Given the description of an element on the screen output the (x, y) to click on. 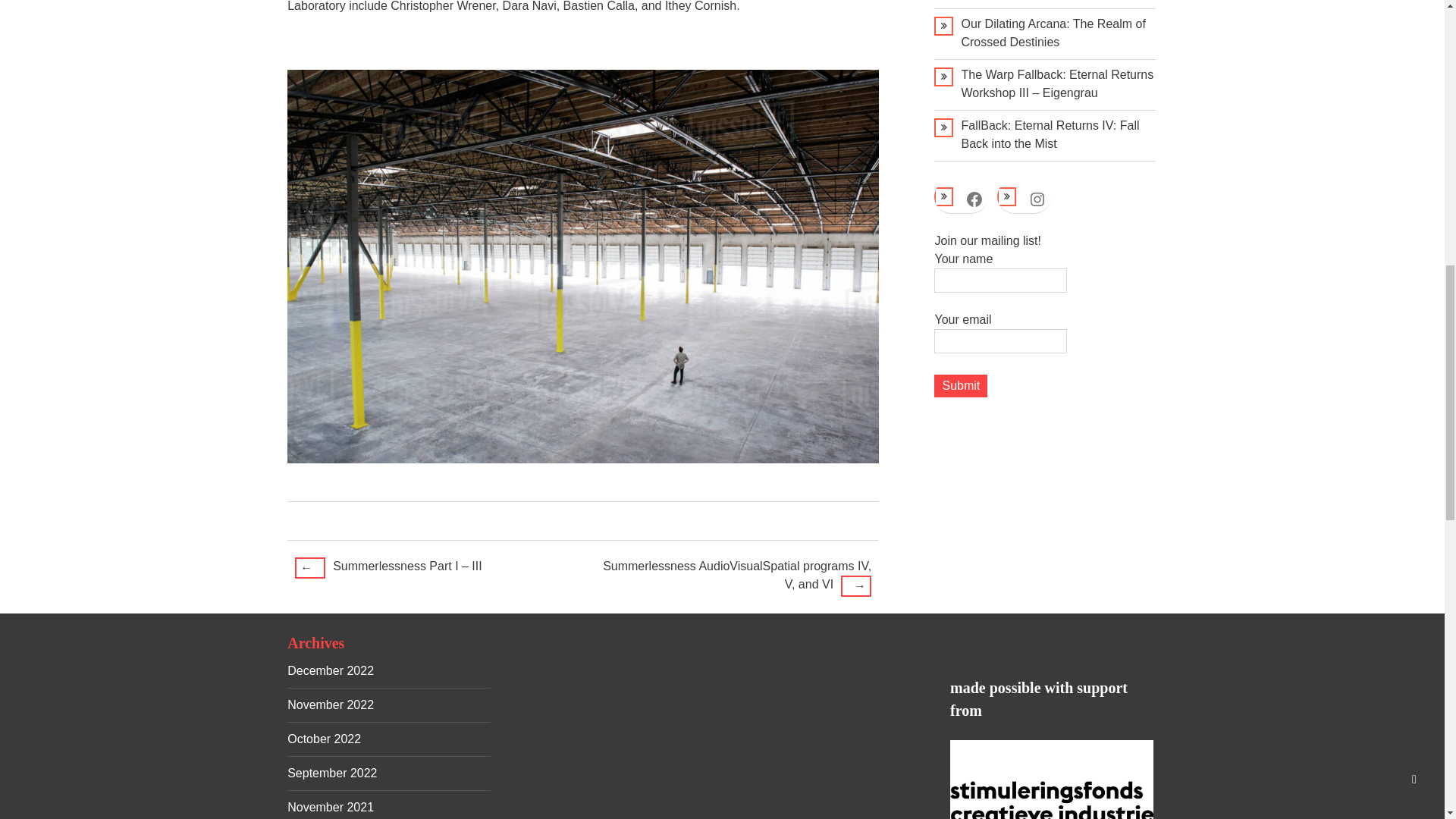
Our Dilating Arcana: The Realm of Crossed Destinies (1052, 32)
October 2022 (323, 738)
Submit (960, 385)
FallBack: Eternal Returns IV: Fall Back into the Mist (1049, 133)
December 2022 (330, 670)
Instagram (1037, 198)
November 2022 (330, 704)
September 2022 (331, 772)
Submit (960, 385)
November 2021 (330, 807)
Facebook (974, 198)
